Given the description of an element on the screen output the (x, y) to click on. 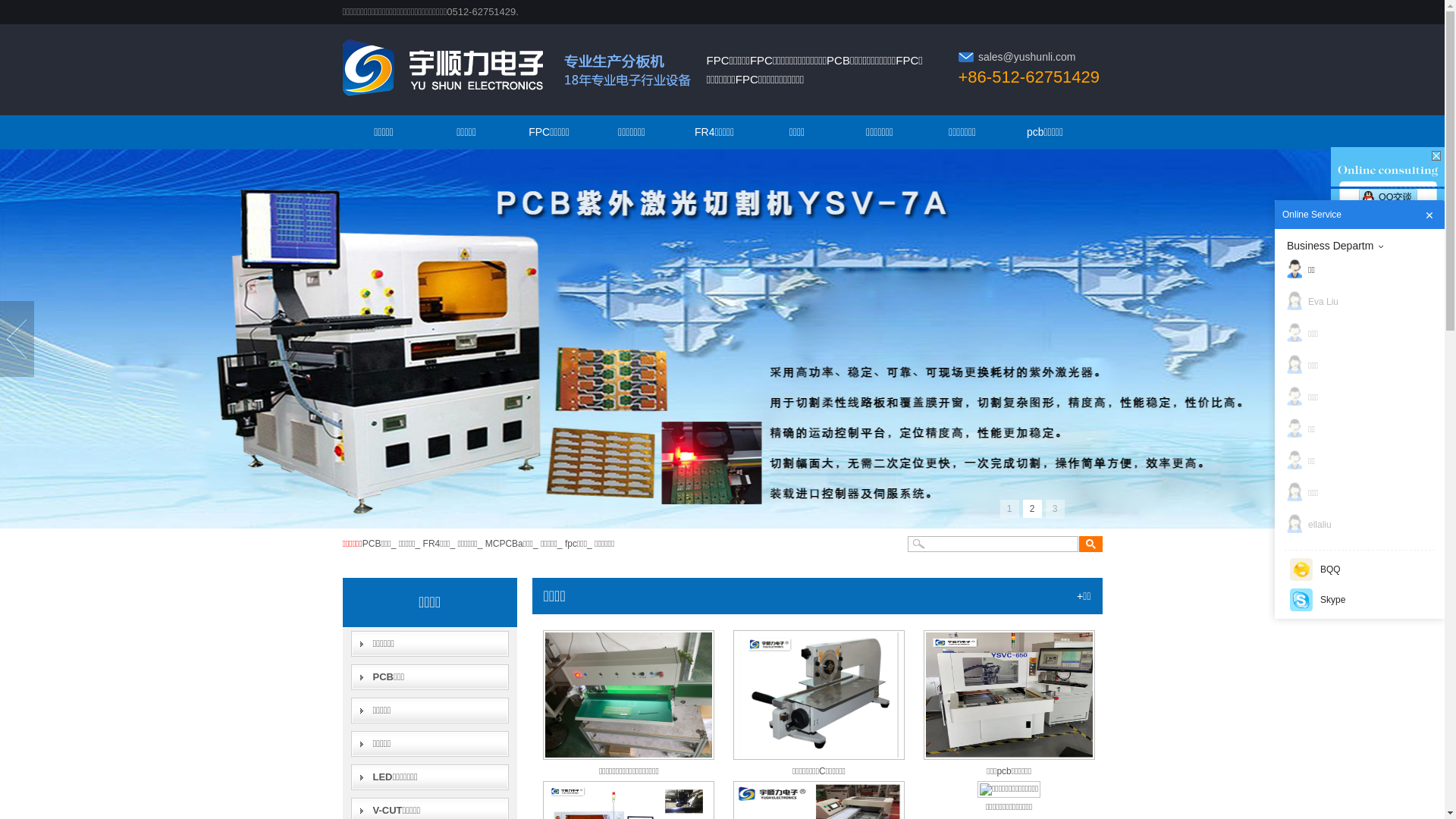
BQQ Element type: text (1359, 569)
Skype Element type: text (1359, 599)
Eva Liu Element type: text (1363, 301)
ellaliu Element type: text (1363, 524)
Skype Element type: hover (1300, 599)
Business Departm Element type: text (1363, 245)
sales@yushunli.com Element type: text (1027, 56)
BQQ Element type: hover (1300, 569)
